Given the description of an element on the screen output the (x, y) to click on. 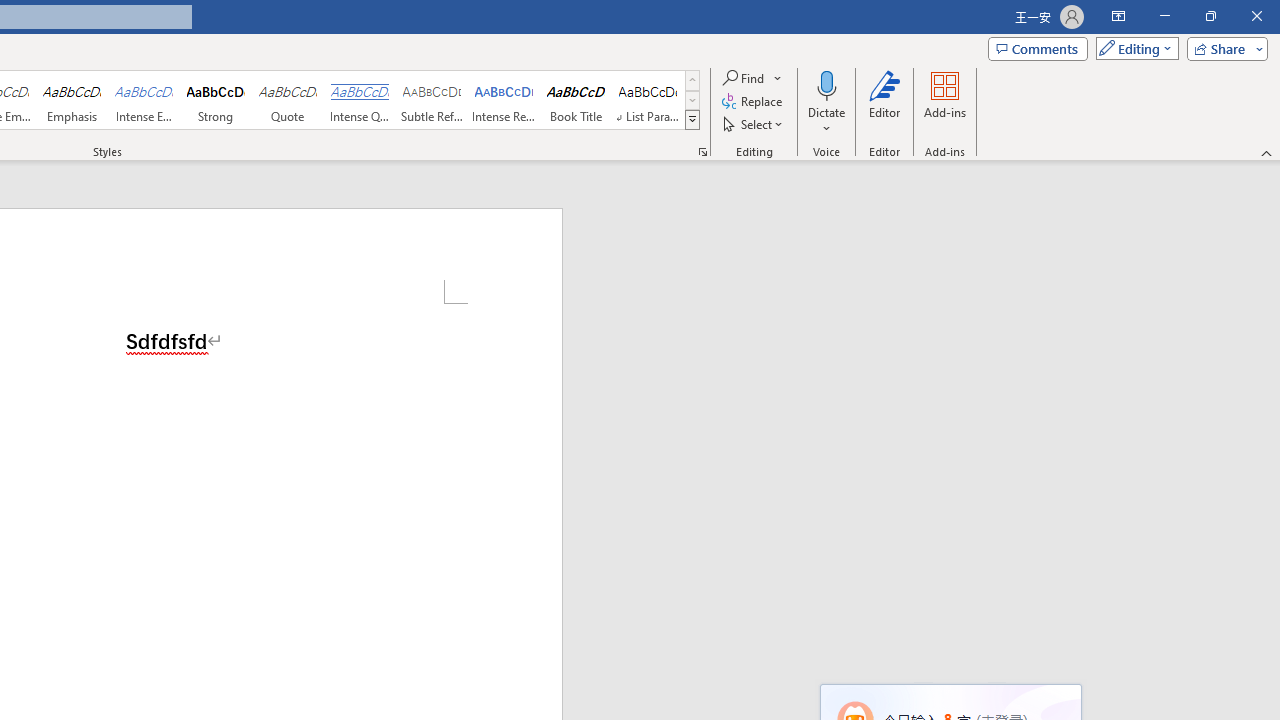
Strong (216, 100)
Quote (287, 100)
Intense Emphasis (143, 100)
Book Title (575, 100)
